Given the description of an element on the screen output the (x, y) to click on. 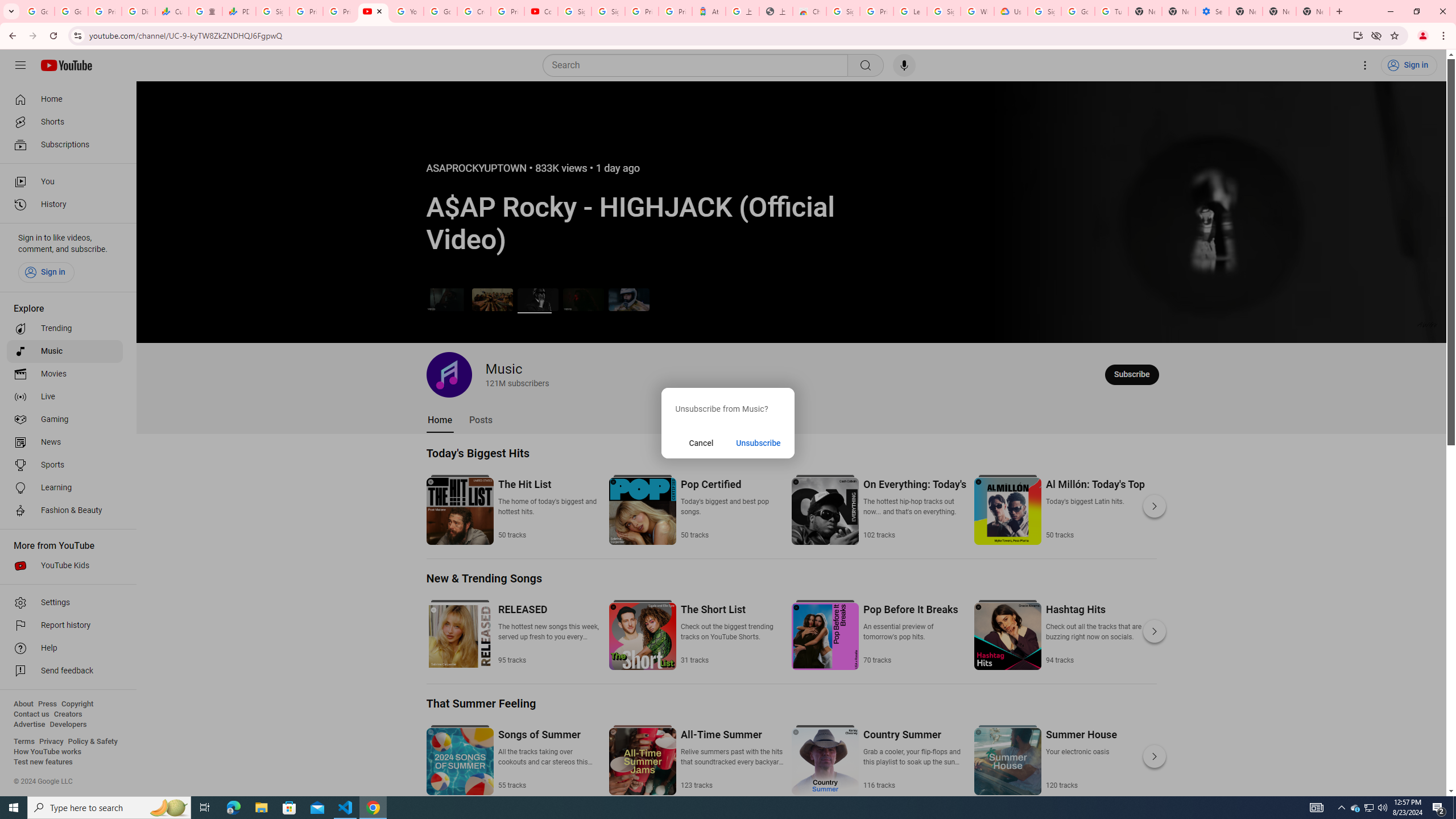
How YouTube works (47, 751)
Summer House Your electronic oasis 120 tracks (1080, 758)
Sign in - Google Accounts (842, 11)
PDD Holdings Inc - ADR (PDD) Price & News - Google Finance (238, 11)
Privacy Checkup (339, 11)
Content Creator Programs & Opportunities - YouTube Creators (541, 11)
YouTube (406, 11)
Developers (68, 724)
Live (64, 396)
Gaming (64, 419)
Channel watermark (1427, 324)
